Given the description of an element on the screen output the (x, y) to click on. 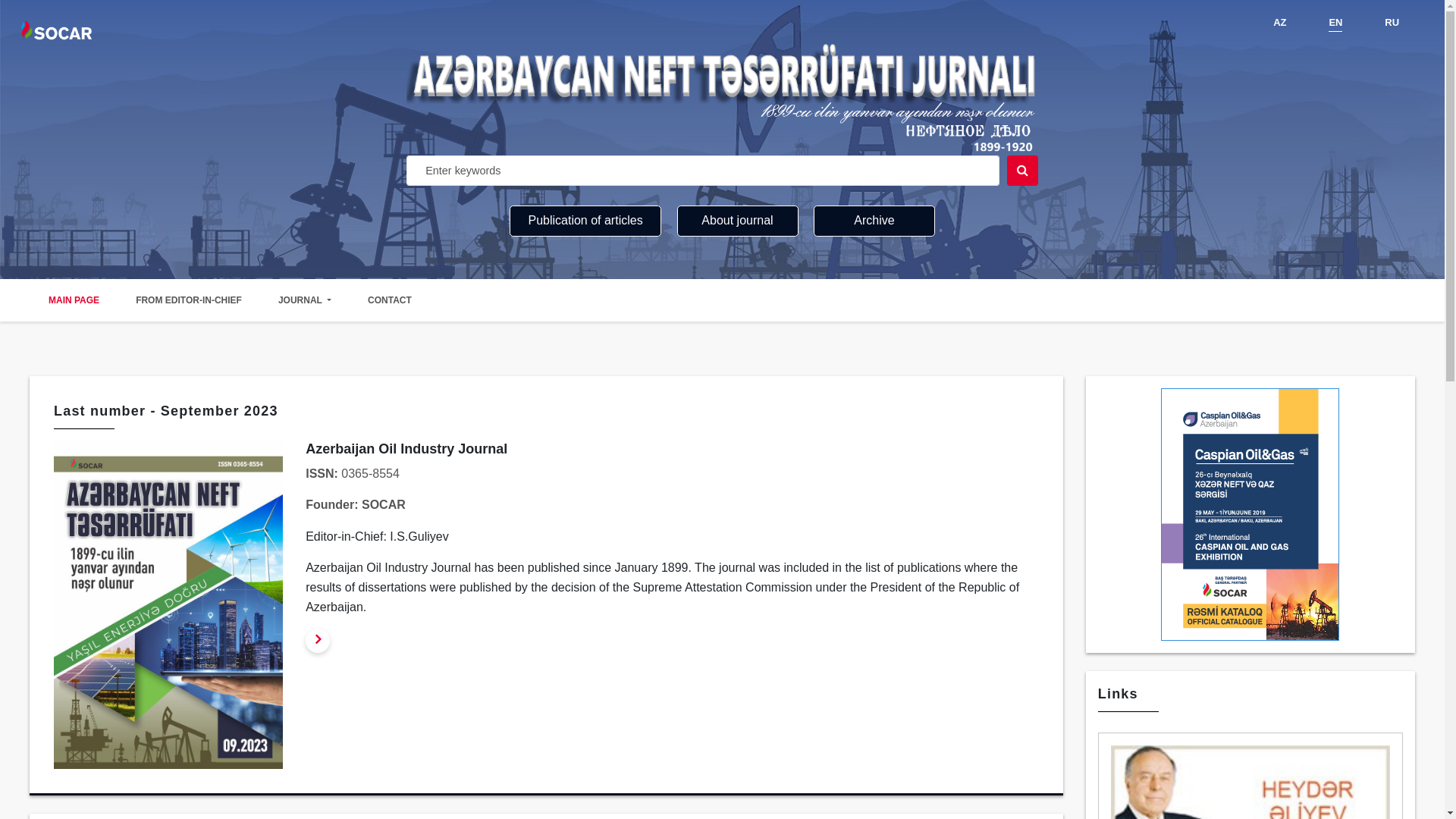
FROM EDITOR-IN-CHIEF Element type: text (188, 300)
EN Element type: text (1335, 23)
about journal Element type: text (736, 221)
Last number - September 2023 Element type: text (165, 410)
archive Element type: text (874, 221)
AZ Element type: text (1279, 22)
JOURNAL Element type: text (304, 300)
publication of articles Element type: text (585, 221)
MAIN PAGE Element type: text (73, 300)
SOCAR Element type: text (383, 504)
CONTACT Element type: text (389, 300)
RU Element type: text (1391, 22)
